Given the description of an element on the screen output the (x, y) to click on. 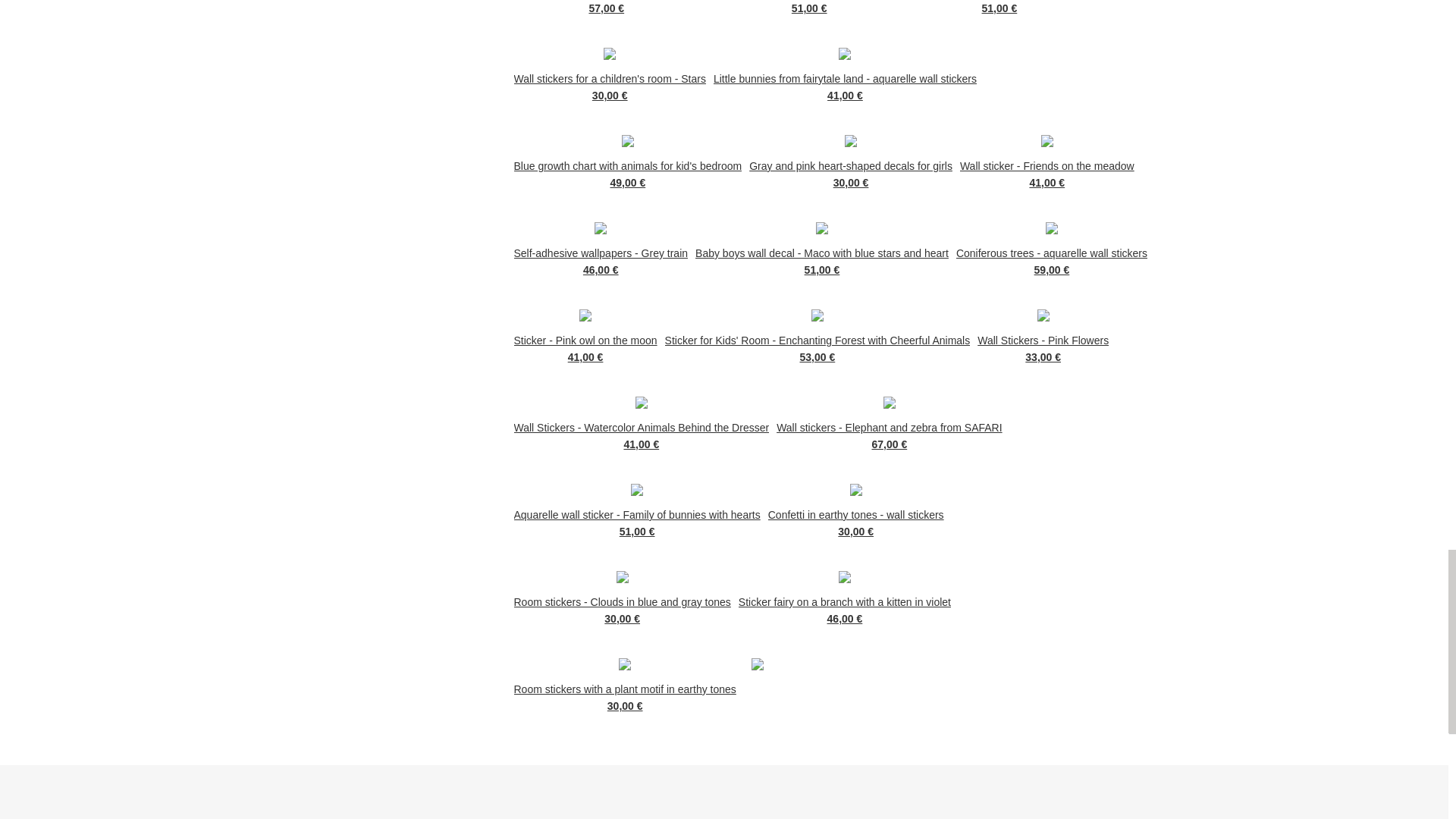
Baby boys wall decal - Maco with blue stars and heart (822, 252)
Little bunnies from fairytale land - aquarelle wall stickers (844, 77)
Wall sticker - Friends on the meadow (1046, 165)
Self-adhesive wallpapers - Grey train (600, 252)
Blue growth chart with animals for kid's bedroom (627, 165)
Gray and pink heart-shaped decals for girls (850, 165)
Wall stickers for a children's room - Stars (609, 77)
Coniferous trees - aquarelle wall stickers (1051, 252)
